Given the description of an element on the screen output the (x, y) to click on. 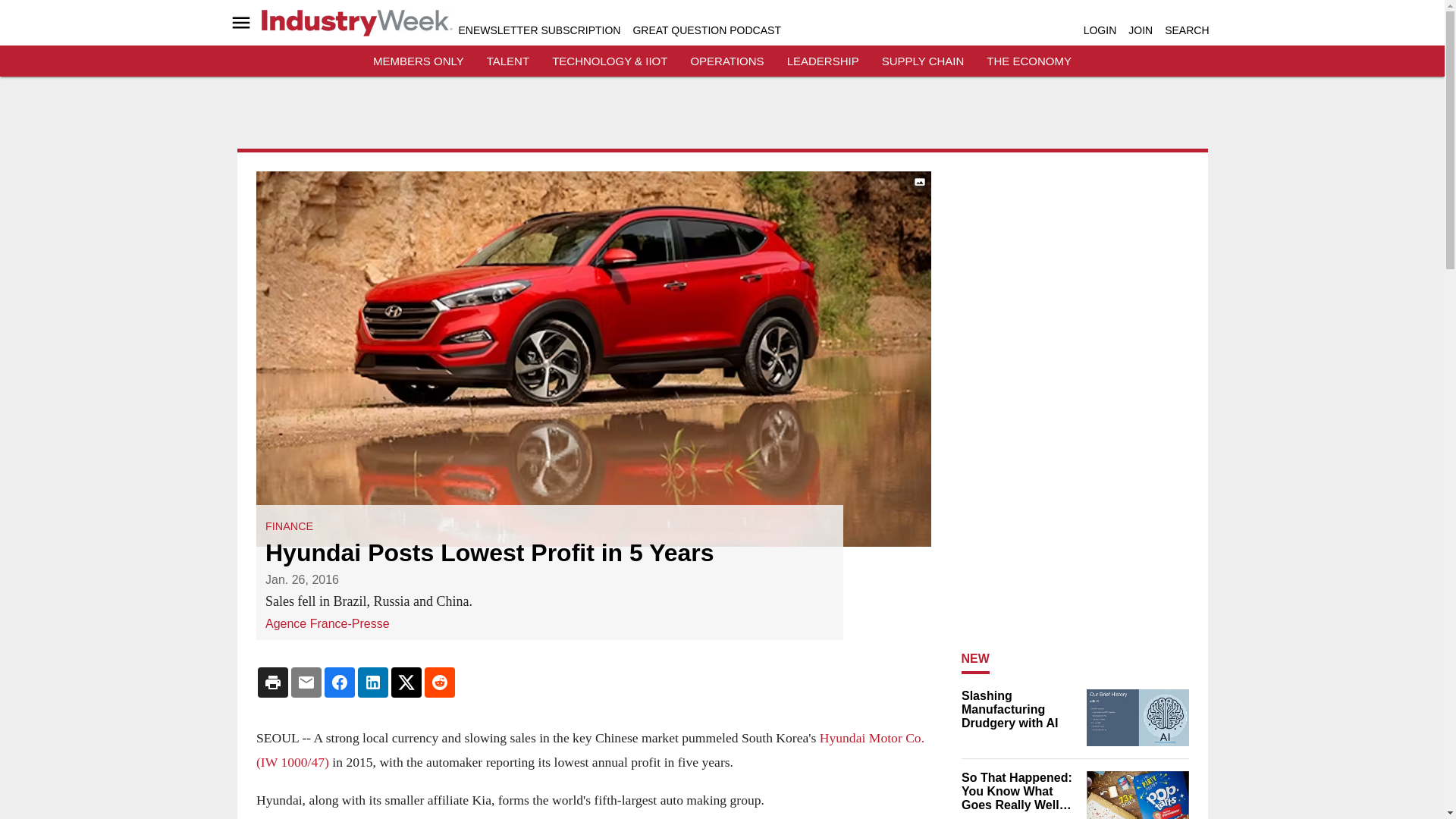
MEMBERS ONLY (418, 60)
JOIN (1140, 30)
LEADERSHIP (823, 60)
THE ECONOMY (1029, 60)
SEARCH (1186, 30)
TALENT (507, 60)
ENEWSLETTER SUBSCRIPTION (539, 30)
SUPPLY CHAIN (922, 60)
GREAT QUESTION PODCAST (705, 30)
